Given the description of an element on the screen output the (x, y) to click on. 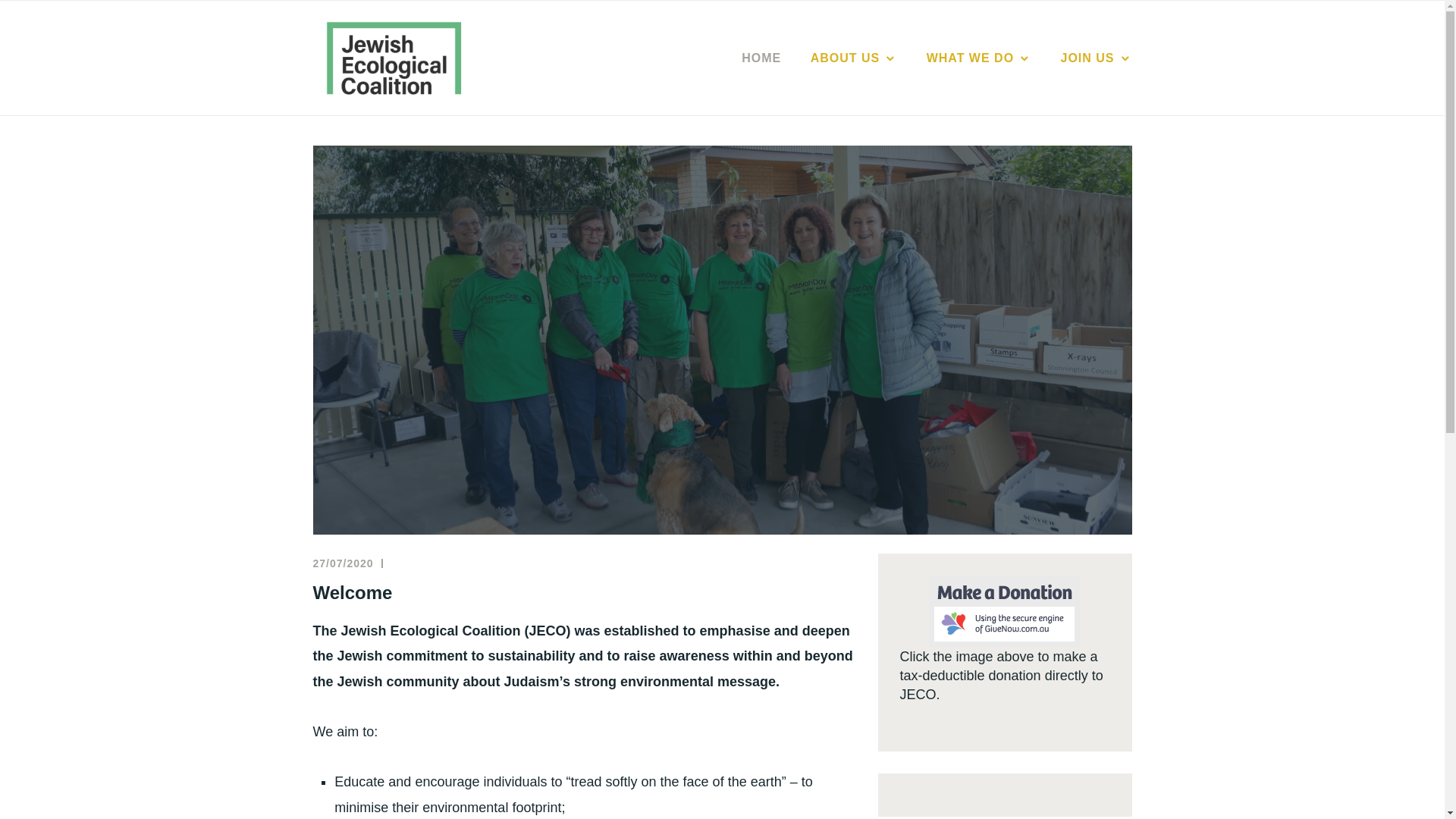
JOIN US Element type: text (1095, 58)
JEWISH ECOLOGICAL COALITION Element type: text (787, 81)
ABOUT US Element type: text (853, 58)
Welcome Element type: text (352, 592)
HOME Element type: text (761, 58)
27/07/2020 Element type: text (342, 563)
WHAT WE DO Element type: text (978, 58)
